Given the description of an element on the screen output the (x, y) to click on. 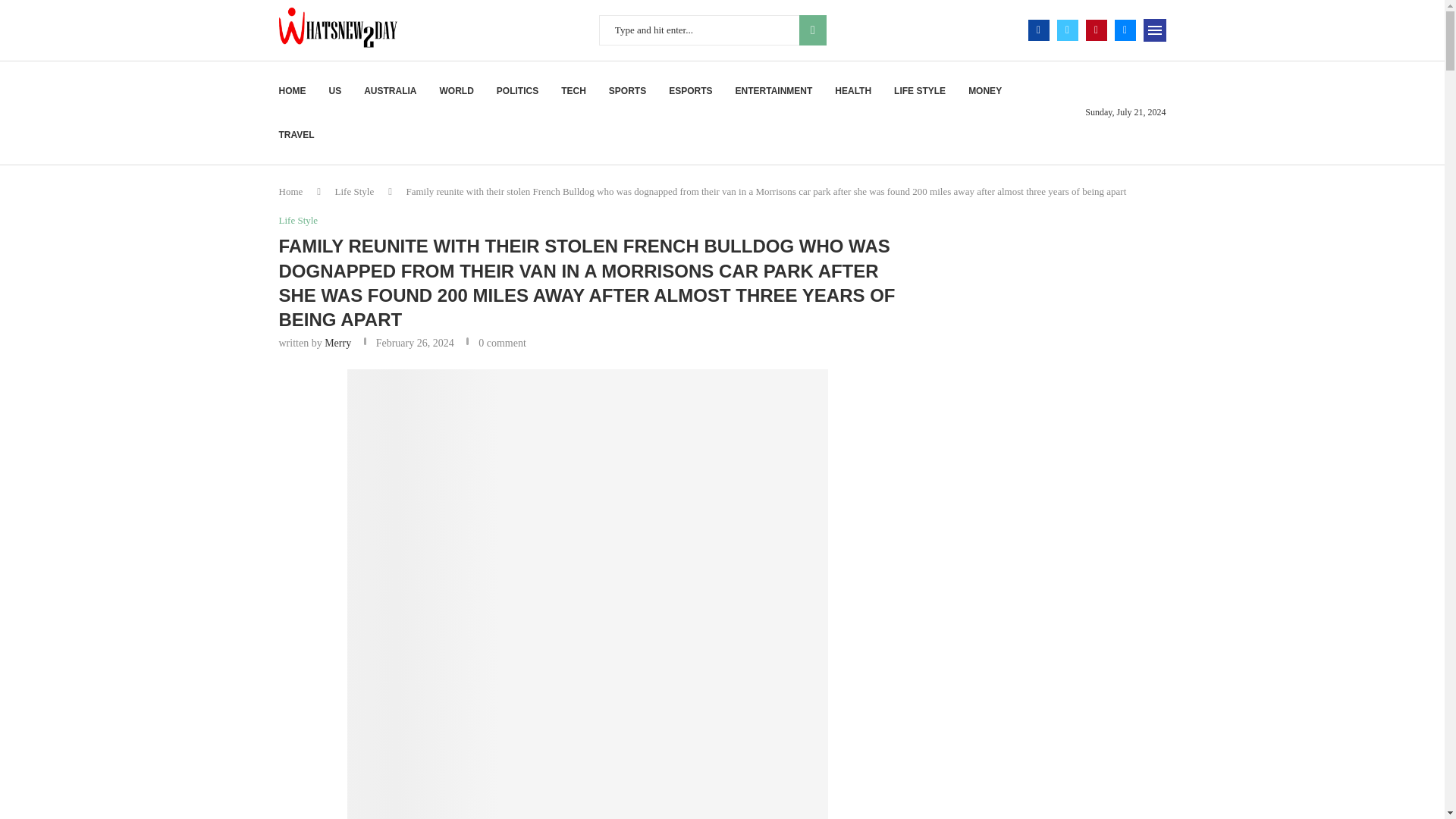
SEARCH (813, 30)
AUSTRALIA (390, 90)
ENTERTAINMENT (773, 90)
LIFE STYLE (918, 90)
ESPORTS (689, 90)
POLITICS (517, 90)
